Given the description of an element on the screen output the (x, y) to click on. 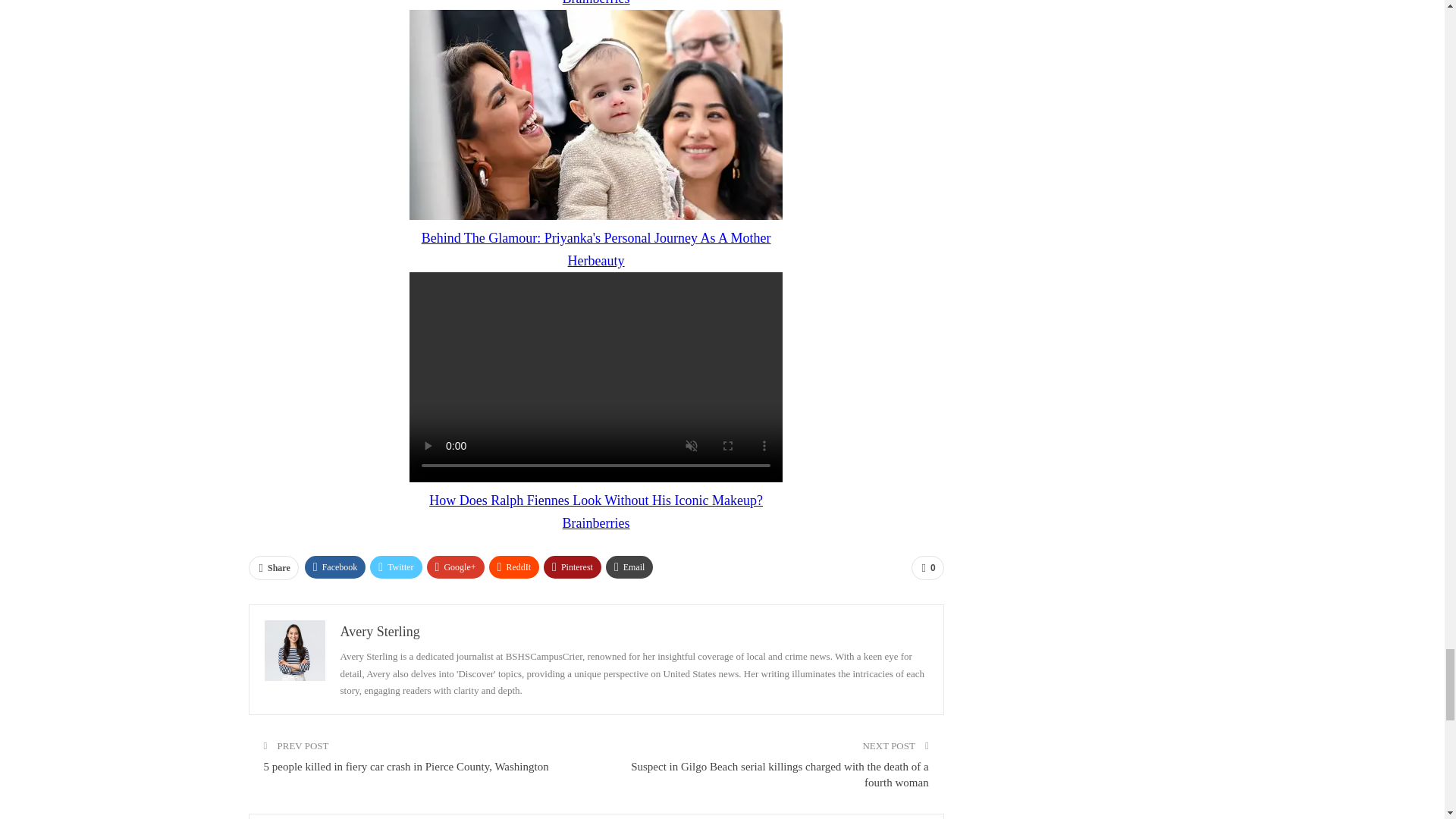
Email (629, 567)
Pinterest (572, 567)
Twitter (395, 567)
Facebook (335, 567)
0 (927, 567)
ReddIt (514, 567)
